Given the description of an element on the screen output the (x, y) to click on. 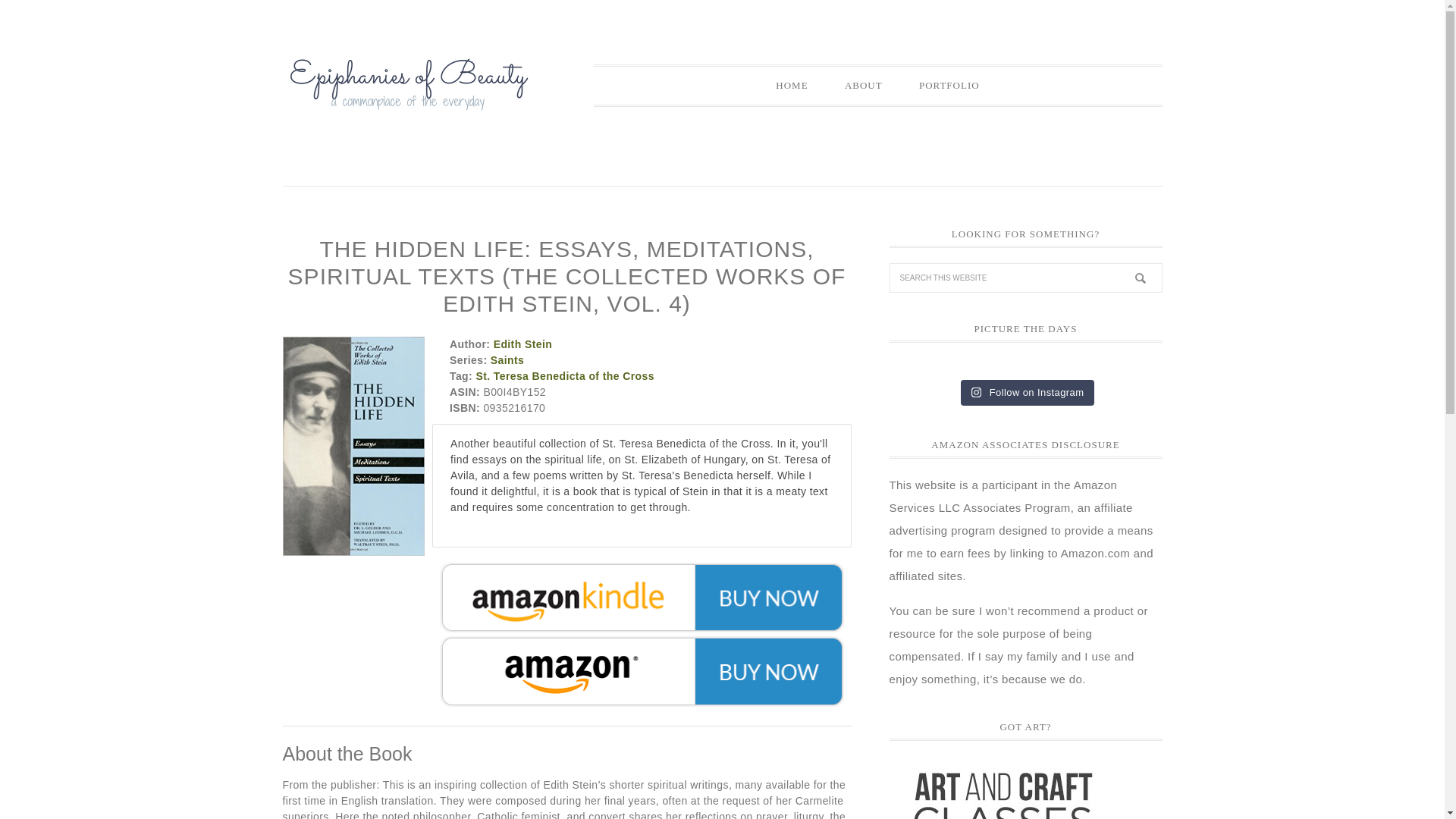
HOME (791, 85)
Edith Stein (523, 344)
Saints (507, 359)
PORTFOLIO (948, 85)
EPIPHANIES OF BEAUTY (407, 92)
ABOUT (863, 85)
St. Teresa Benedicta of the Cross (564, 376)
Follow on Instagram (1027, 392)
